Given the description of an element on the screen output the (x, y) to click on. 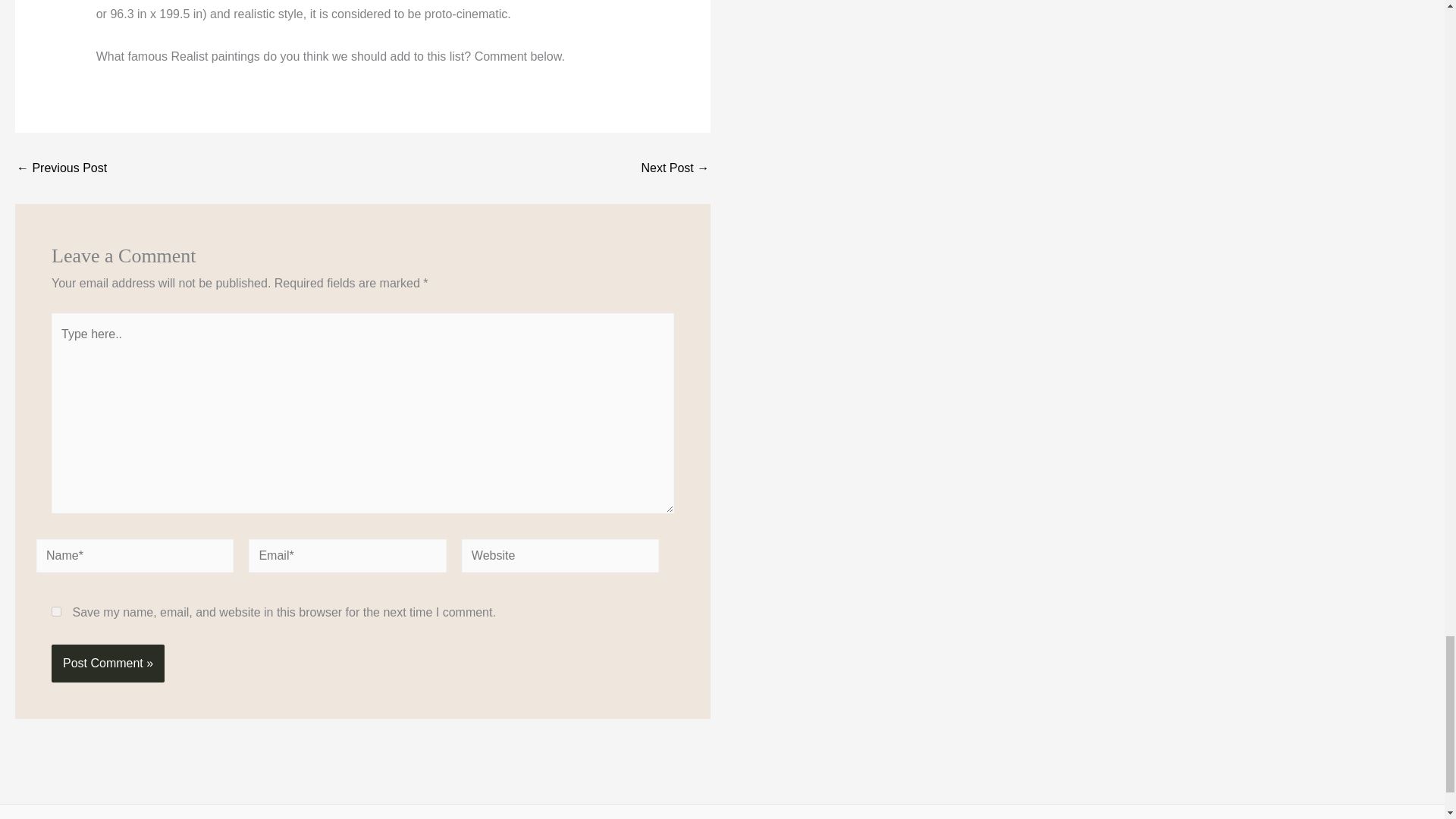
Best Art History Films (674, 168)
12 of the Most Famous Dutch Golden Age Paintings (61, 168)
yes (55, 611)
